Given the description of an element on the screen output the (x, y) to click on. 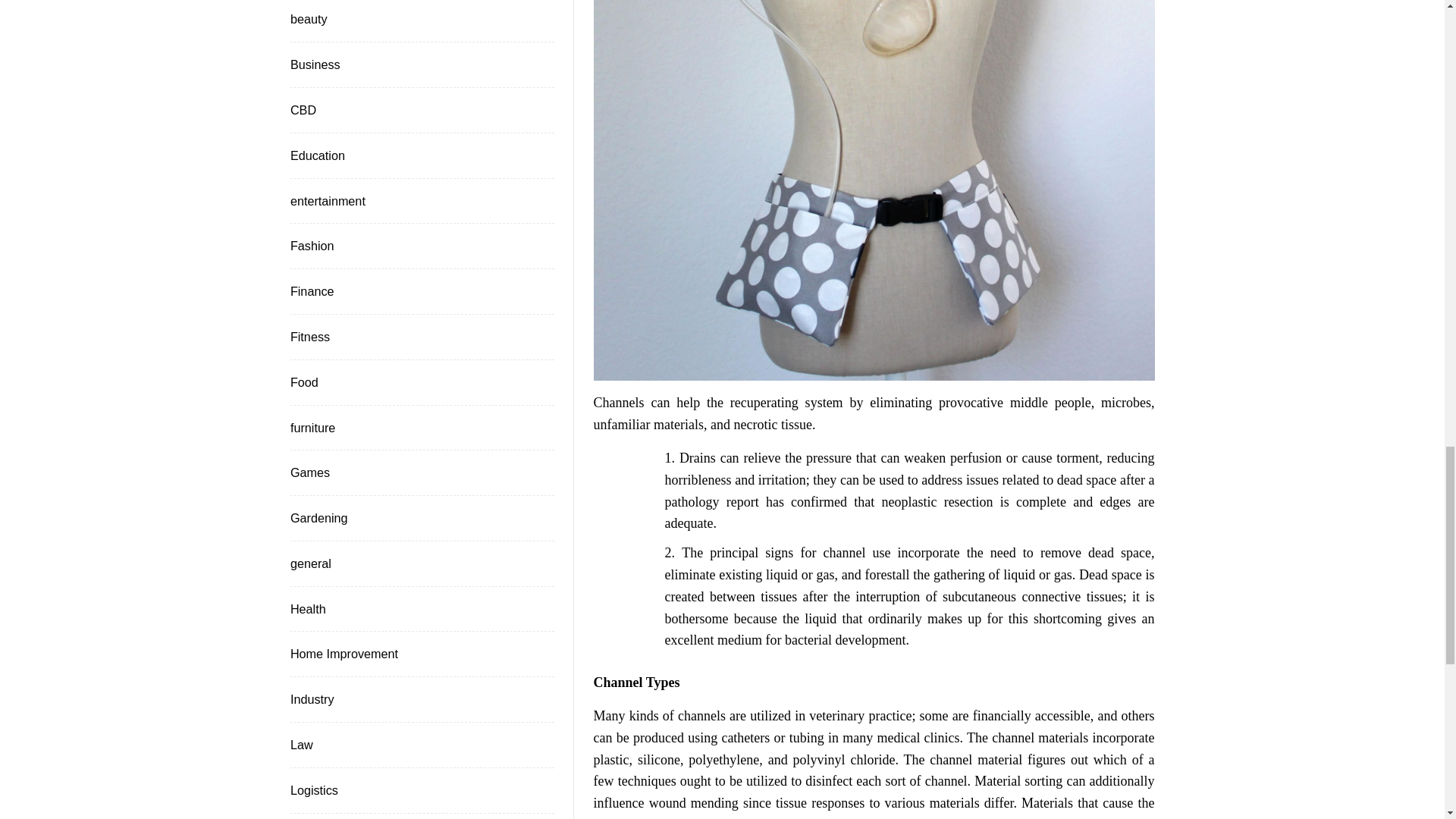
beauty (306, 19)
Business (313, 65)
entertainment (325, 201)
Education (315, 155)
CBD (301, 110)
